Given the description of an element on the screen output the (x, y) to click on. 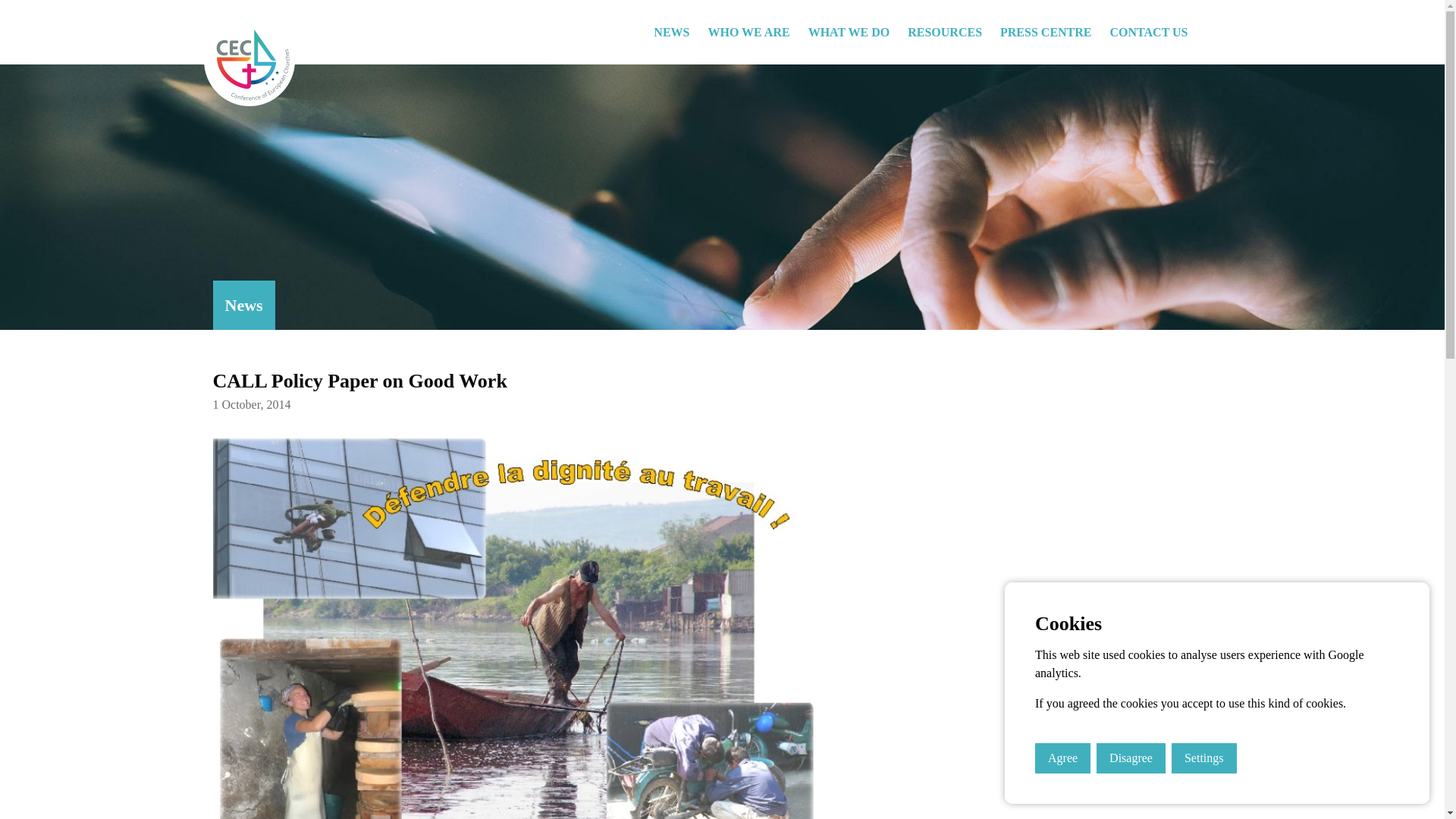
WHAT WE DO (849, 32)
WHO WE ARE (747, 32)
Agree (1062, 757)
RESOURCES (944, 32)
PRESS CENTRE (1045, 32)
CONTACT US (1148, 32)
